Given the description of an element on the screen output the (x, y) to click on. 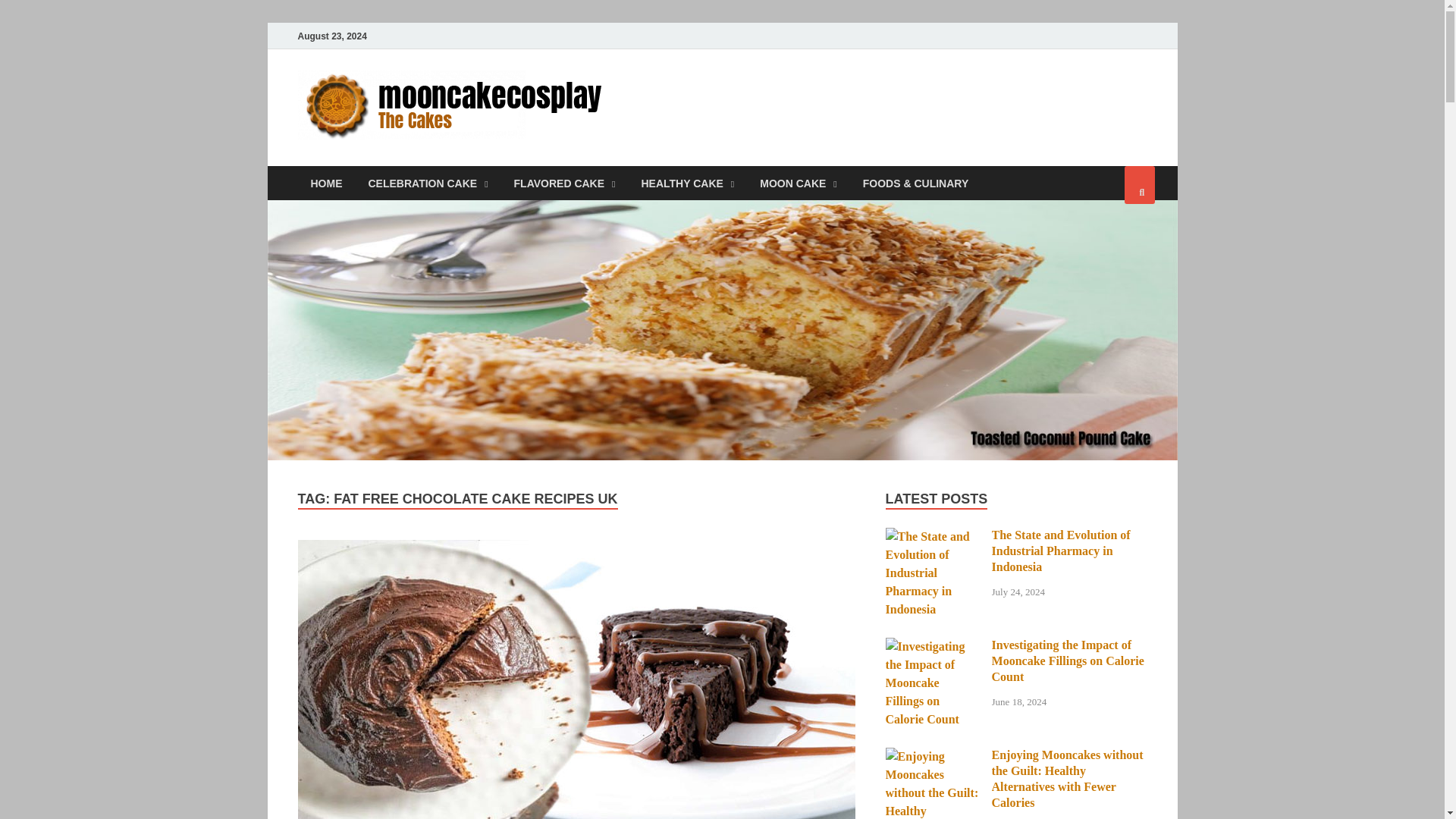
CELEBRATION CAKE (427, 182)
The State and Evolution of Industrial Pharmacy in Indonesia (932, 535)
FLAVORED CAKE (564, 182)
HOME (326, 182)
HEALTHY CAKE (686, 182)
MOON CAKE (798, 182)
